Given the description of an element on the screen output the (x, y) to click on. 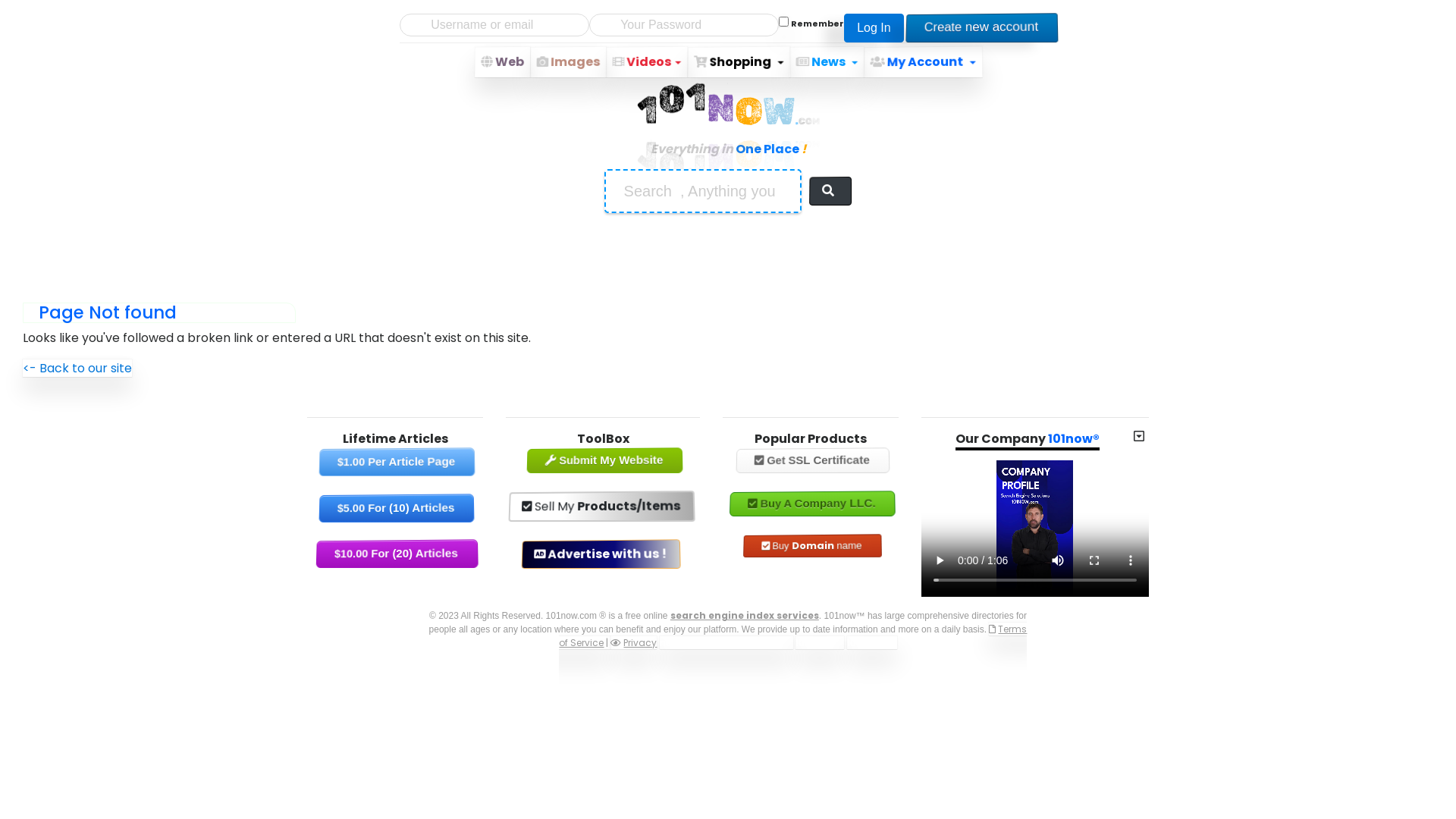
Buy Domain name Element type: text (812, 544)
1 0 1 N O W.COM Element type: text (727, 120)
Advertise with us ! Element type: text (600, 553)
Privacy Element type: text (633, 642)
101now.net Element type: text (819, 642)
Terms of Service | Element type: text (792, 635)
$10.00 For (20) Articles Element type: text (397, 553)
My Account Element type: text (923, 61)
Log In Element type: text (873, 27)
Create new account Element type: text (981, 26)
Get SSL Certificate Element type: text (812, 460)
101now.org Element type: text (872, 642)
Advertisement Element type: hover (727, 252)
Shopping Element type: text (738, 62)
Submit My Website Element type: text (604, 460)
<- Back to our site Element type: text (76, 367)
Buy A Company LLC. Element type: text (812, 502)
newyorkconstructionco.com Element type: text (726, 642)
watch videos
Videos Element type: text (646, 62)
$5.00 For (10) Articles Element type: text (396, 507)
Web Element type: text (502, 62)
watch videos Element type: hover (618, 61)
Sell My Products/Items Element type: text (601, 505)
Images Element type: text (567, 62)
News Element type: text (826, 62)
$1.00 Per Article Page Element type: text (396, 461)
